Given the description of an element on the screen output the (x, y) to click on. 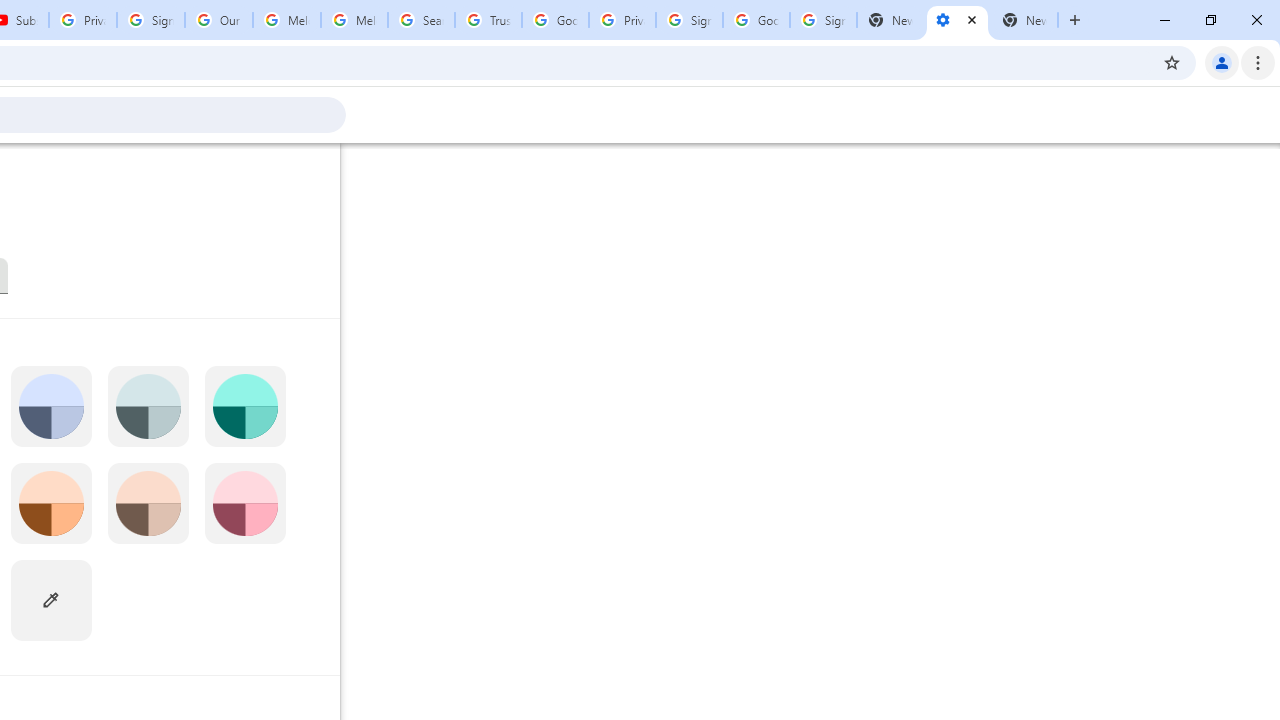
Settings - Customize profile (957, 20)
Google Ads - Sign in (555, 20)
Google Cybersecurity Innovations - Google Safety Center (756, 20)
Sign in - Google Accounts (689, 20)
